Given the description of an element on the screen output the (x, y) to click on. 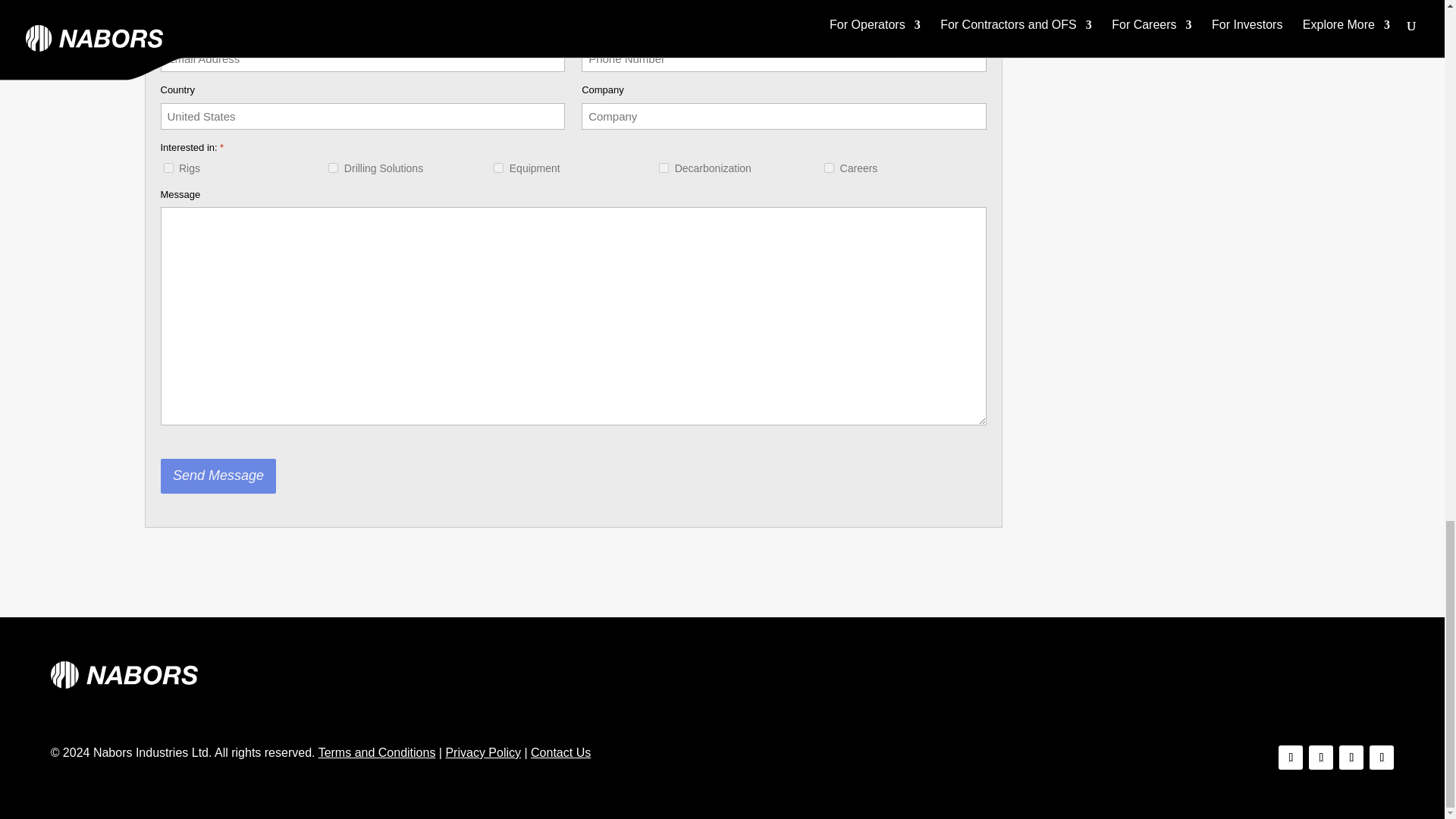
Follow on Facebook (1290, 757)
Drilling Solutions (333, 167)
Follow on X (1320, 757)
Send Message (218, 475)
Rigs (168, 167)
Follow on Youtube (1381, 757)
Equipment (498, 167)
Decarbonization (663, 167)
Follow on LinkedIn (1350, 757)
Careers (829, 167)
logo (124, 674)
